Given the description of an element on the screen output the (x, y) to click on. 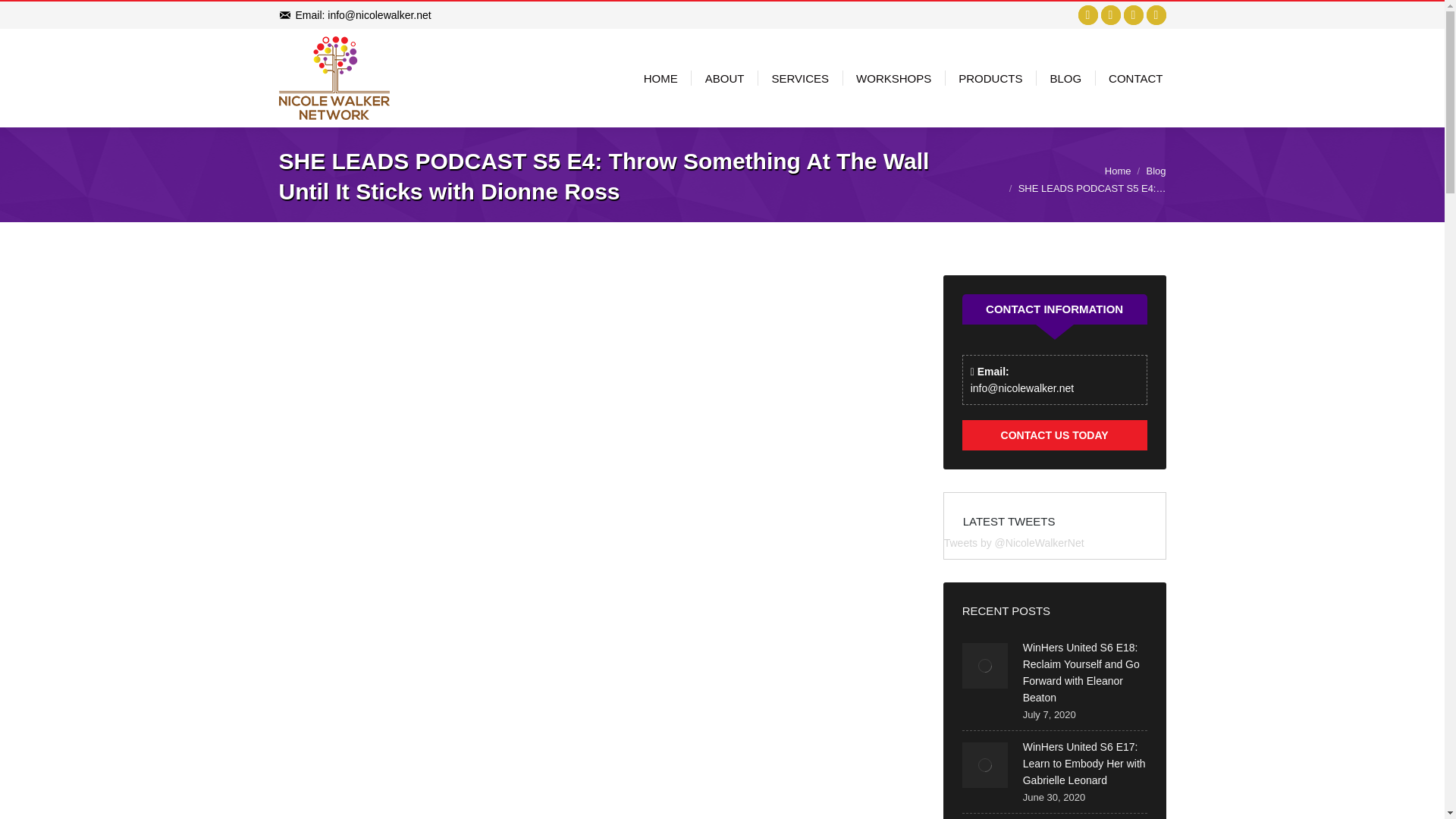
Blog (1155, 170)
WORKSHOPS (893, 77)
Instagram (1156, 14)
Instagram (1156, 14)
Facebook (1087, 14)
SERVICES (799, 77)
Twitter (1110, 14)
Twitter (1110, 14)
Linkedin (1133, 14)
Facebook (1087, 14)
